Given the description of an element on the screen output the (x, y) to click on. 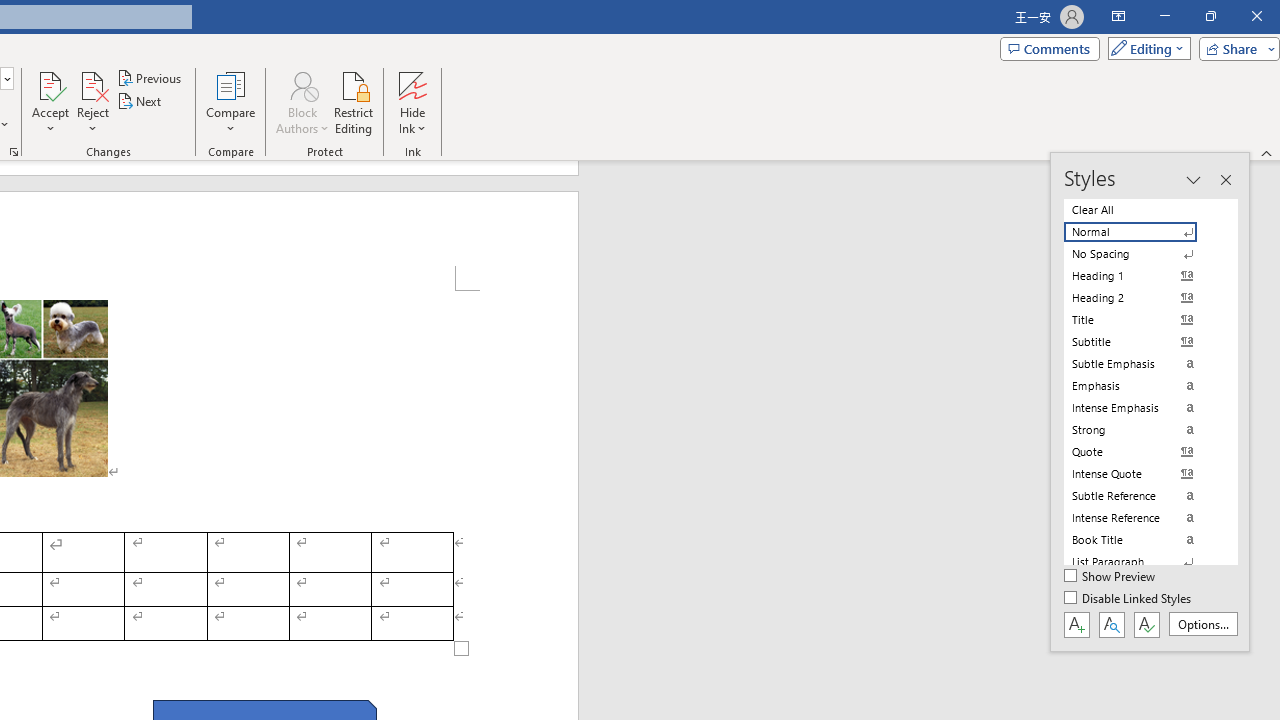
Title (1142, 319)
Close pane (1225, 179)
Hide Ink (412, 102)
Subtitle (1142, 341)
